Given the description of an element on the screen output the (x, y) to click on. 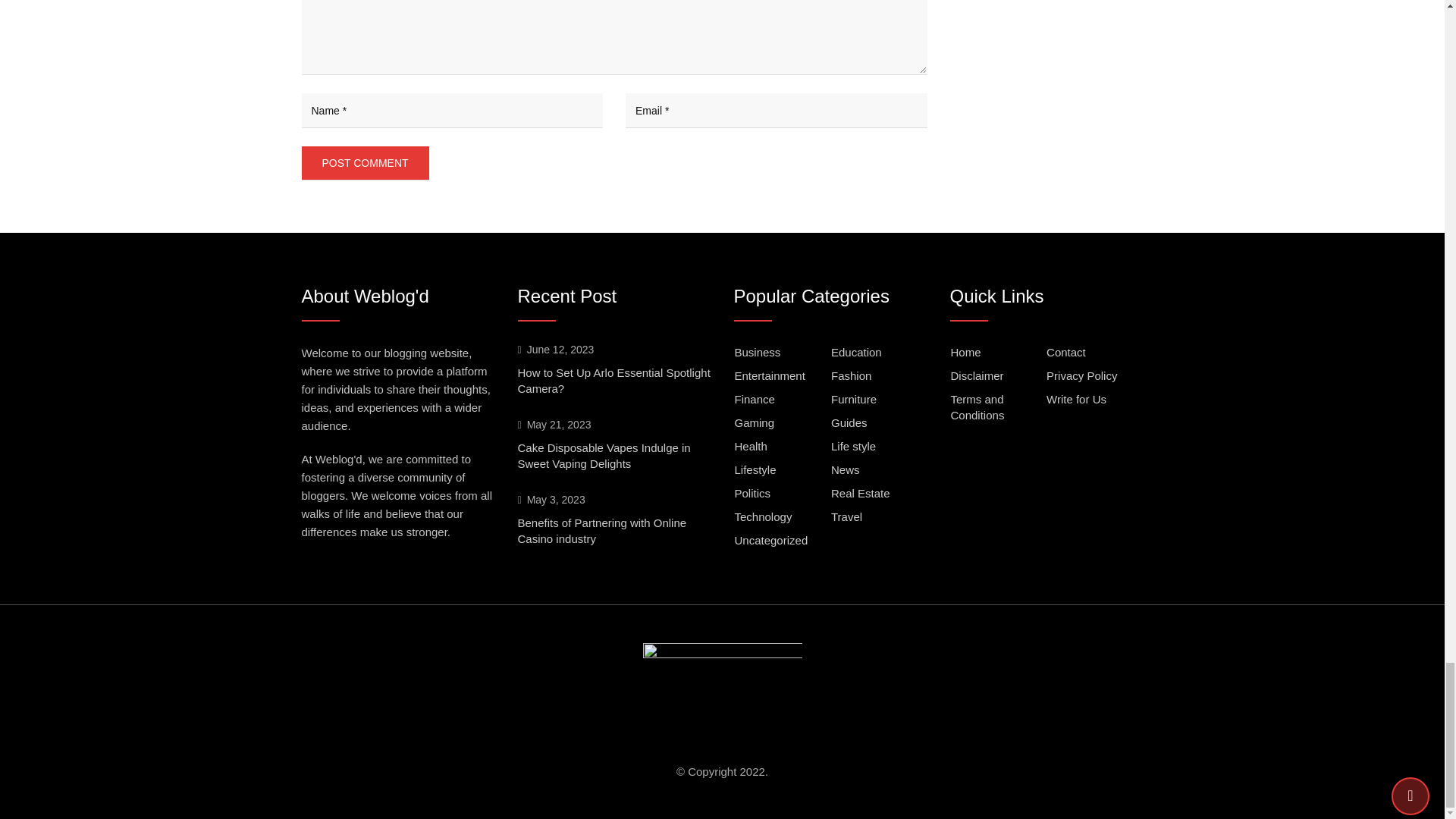
Post Comment (365, 162)
